Given the description of an element on the screen output the (x, y) to click on. 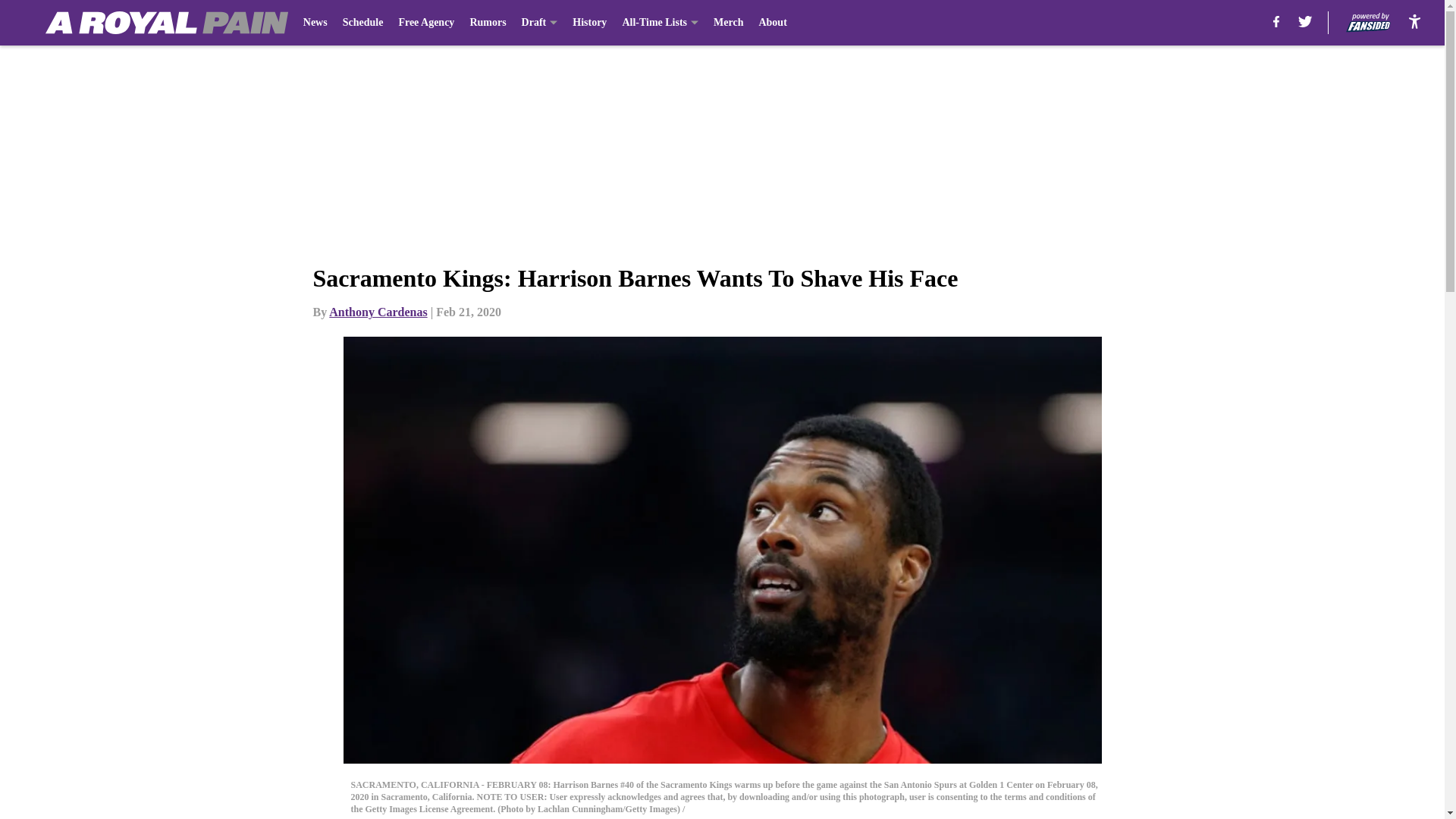
News (314, 22)
Anthony Cardenas (377, 311)
About (772, 22)
Rumors (486, 22)
Schedule (363, 22)
Draft (539, 22)
Free Agency (425, 22)
History (589, 22)
Merch (727, 22)
All-Time Lists (659, 22)
